Given the description of an element on the screen output the (x, y) to click on. 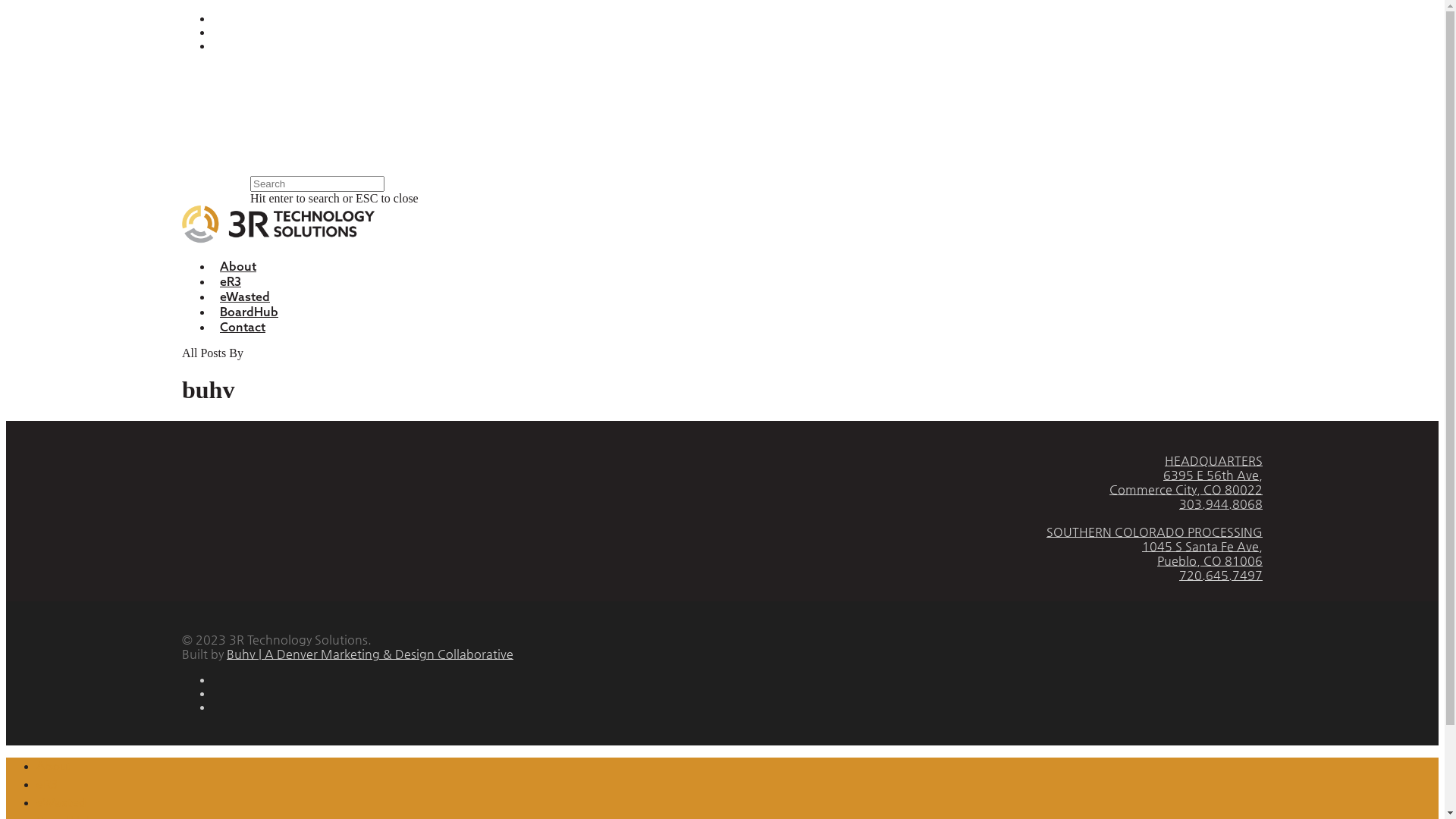
720.645.7497 Element type: text (1220, 574)
HEADQUARTERS
6395 E 56th Ave,
Commerce City, CO 80022 Element type: text (1185, 474)
eWasted Element type: text (244, 296)
BoardHub Element type: text (248, 311)
eR3 Element type: text (46, 784)
303.944.8068 Element type: text (1220, 503)
About Element type: text (53, 766)
About Element type: text (237, 265)
Buhv | A Denver Marketing & Design Collaborative Element type: text (369, 653)
eR3 Element type: text (230, 280)
Contact Element type: text (242, 326)
eWasted Element type: text (61, 802)
